Given the description of an element on the screen output the (x, y) to click on. 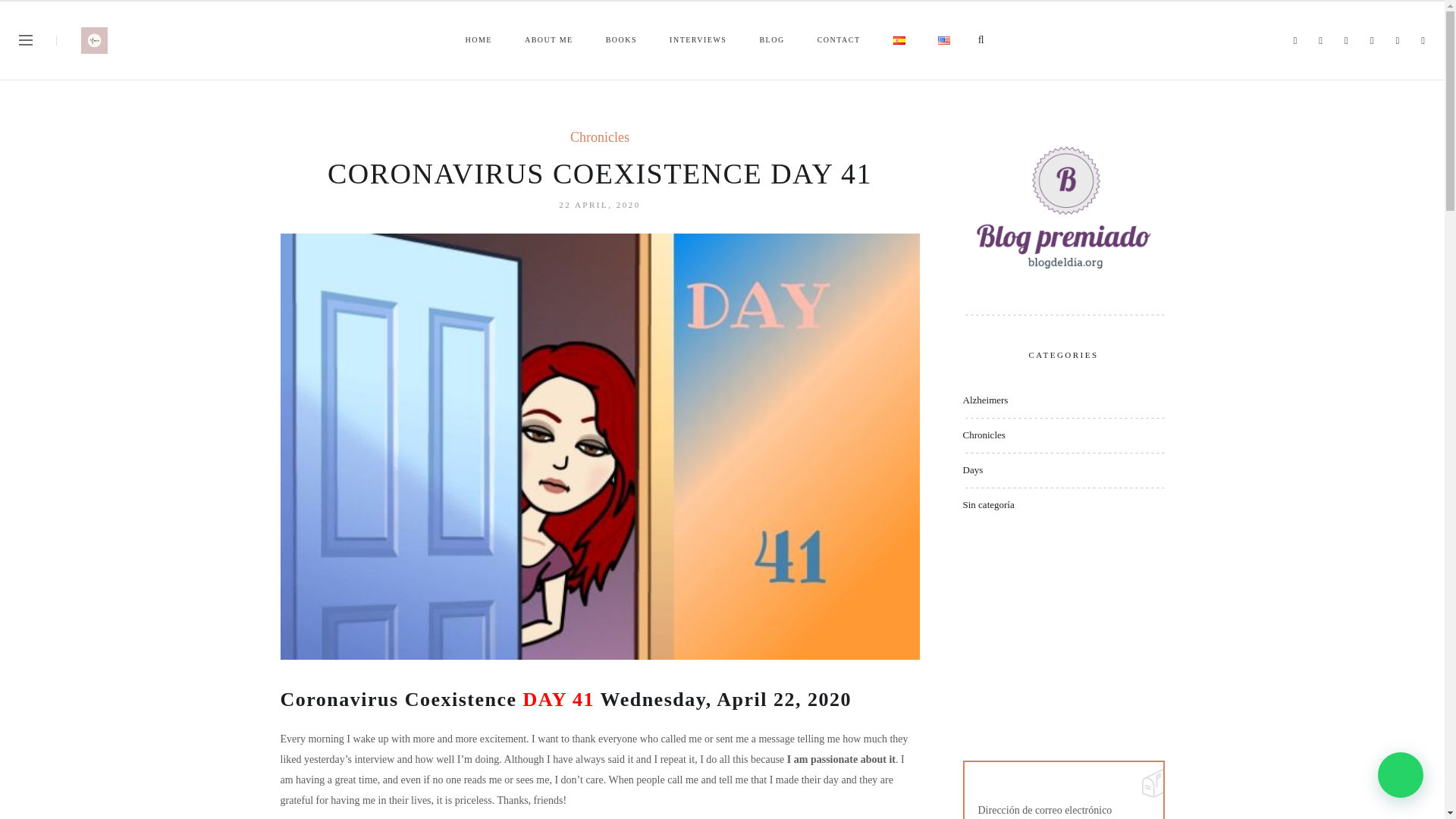
HOME (478, 40)
Suscribir (37, 664)
BOOKS (622, 40)
INTERVIEWS (698, 40)
ABOUT ME (550, 40)
BLOG (773, 40)
CONTACT (839, 40)
